Given the description of an element on the screen output the (x, y) to click on. 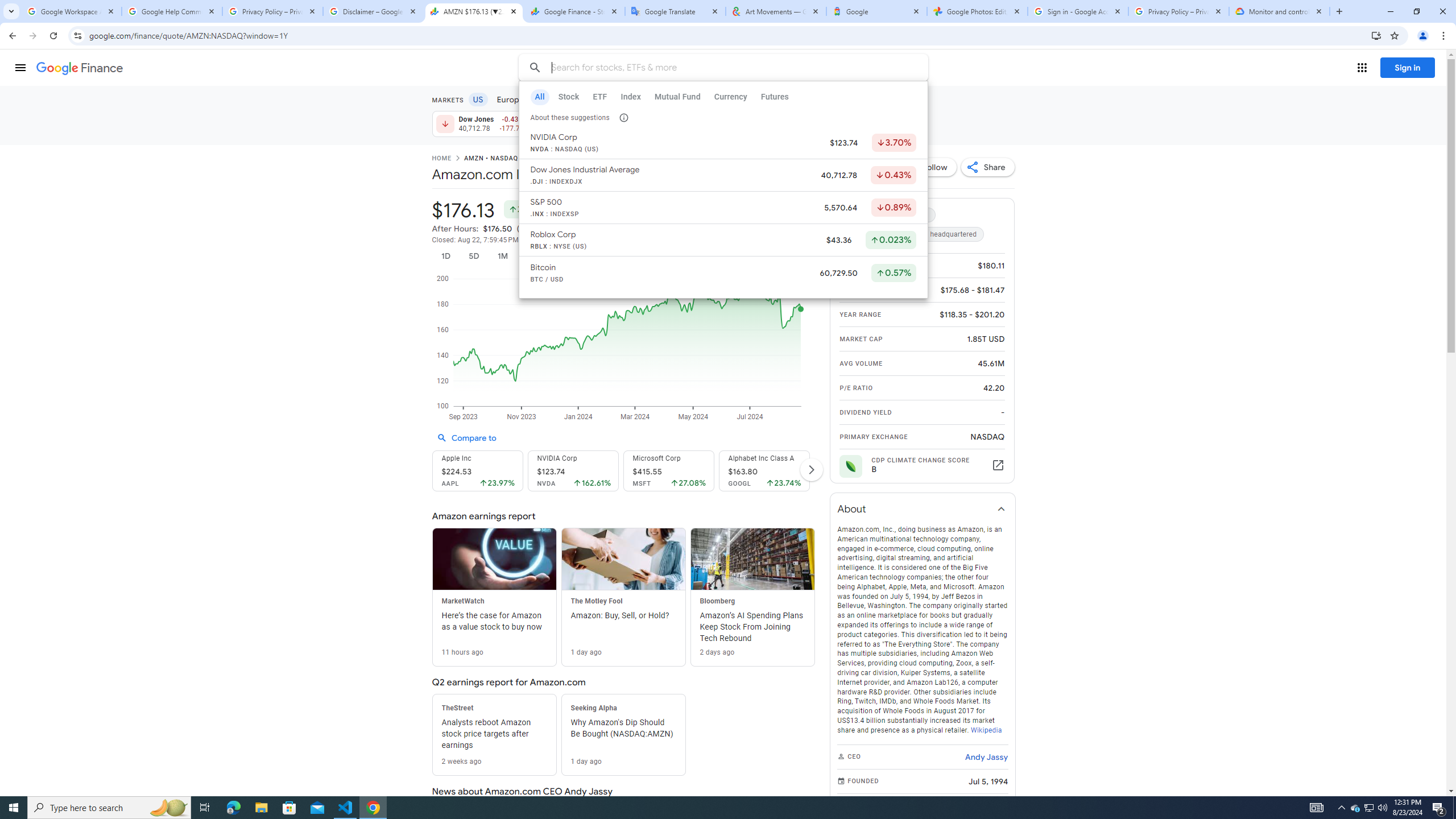
Currencies (588, 99)
1D (445, 255)
Andy Jassy (986, 756)
Futures (678, 99)
Europe (510, 99)
S&P 500 5,570.64 Down by 0.89% -50.21 (578, 123)
ETF (599, 96)
Bitcoin BTC / USD 60,729.50 Up by 0.57% (722, 274)
Sign in - Google Accounts (1078, 11)
